Given the description of an element on the screen output the (x, y) to click on. 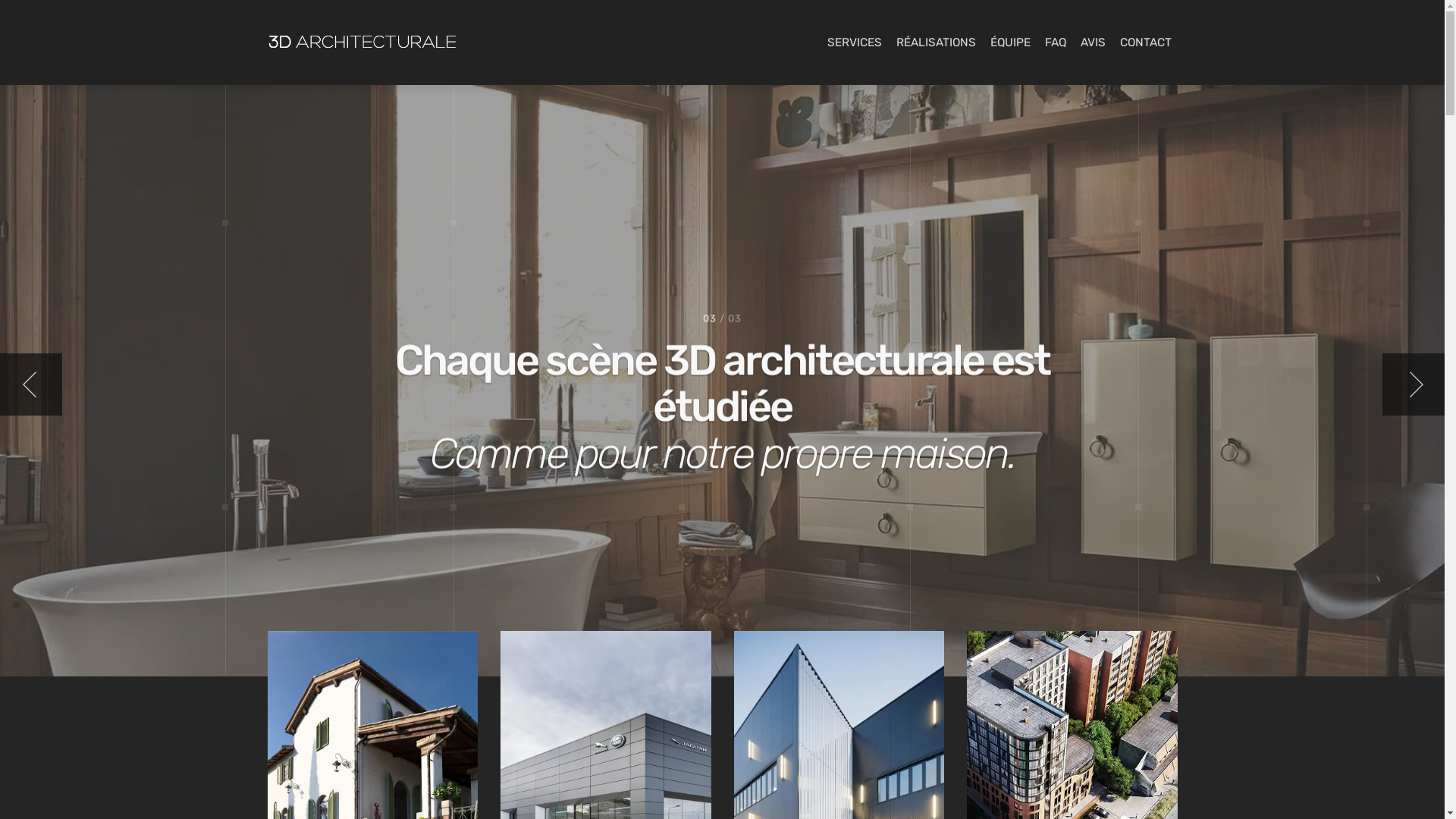
CONTACT Element type: text (1144, 42)
SERVICES Element type: text (853, 42)
AVIS Element type: text (1091, 42)
FAQ Element type: text (1055, 42)
